Given the description of an element on the screen output the (x, y) to click on. 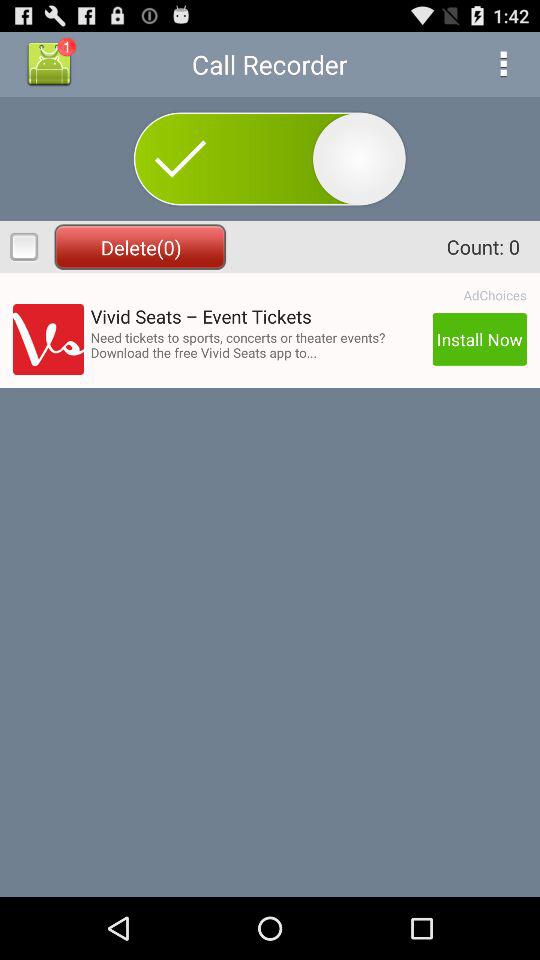
choose the icon on the left (48, 339)
